Given the description of an element on the screen output the (x, y) to click on. 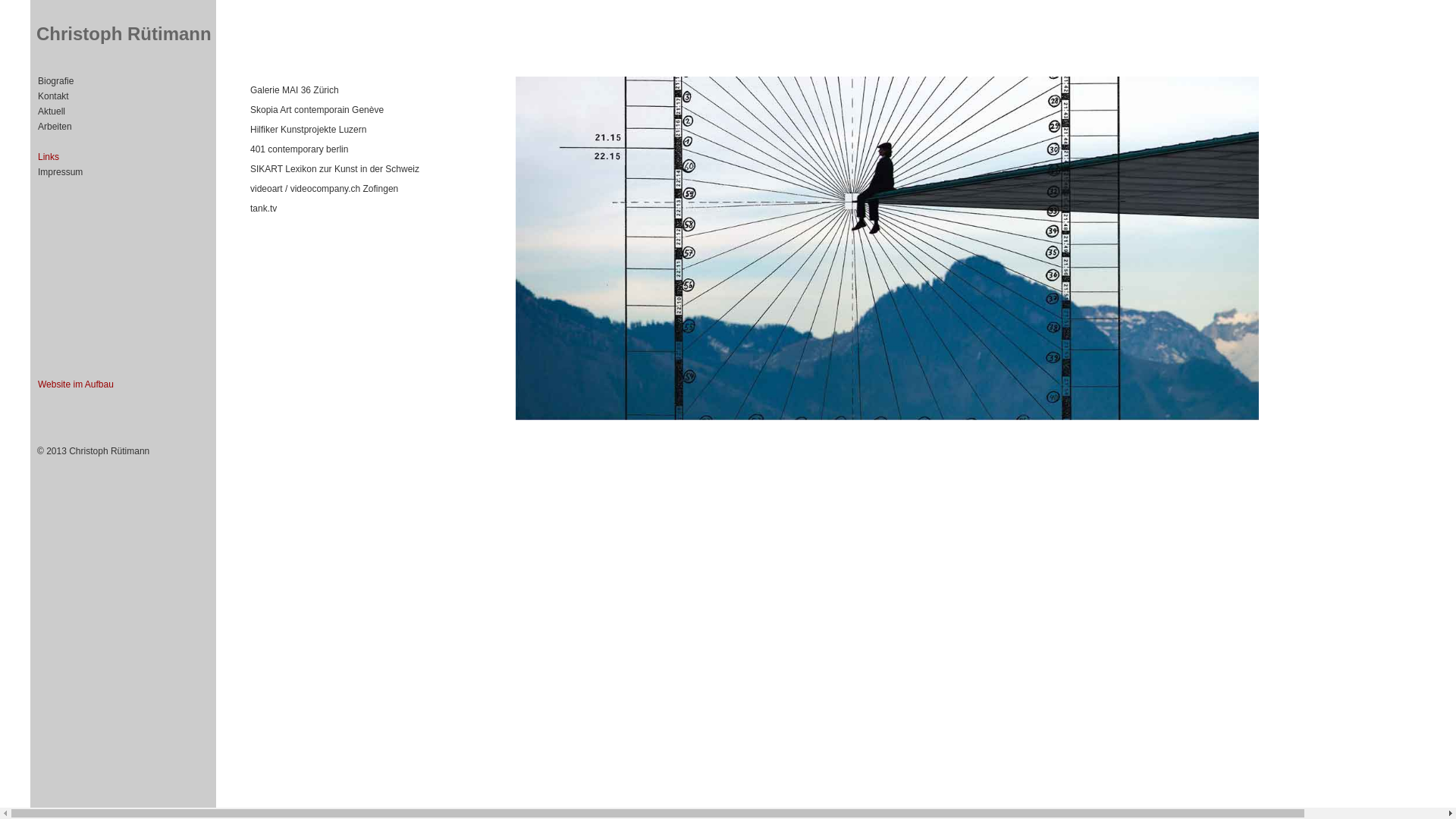
401 contemporary berlin Element type: text (299, 149)
Biografie Element type: text (55, 80)
Hilfiker Kunstprojekte Luzern Element type: text (308, 129)
Kontakt Element type: text (53, 96)
SIKART Lexikon zur Kunst in der Schweiz Element type: text (334, 168)
Arbeiten Element type: text (54, 126)
Impressum Element type: text (59, 171)
tank.tv Element type: text (263, 208)
videoart / videocompany.ch Zofingen Element type: text (324, 188)
Aktuell Element type: text (51, 111)
